Given the description of an element on the screen output the (x, y) to click on. 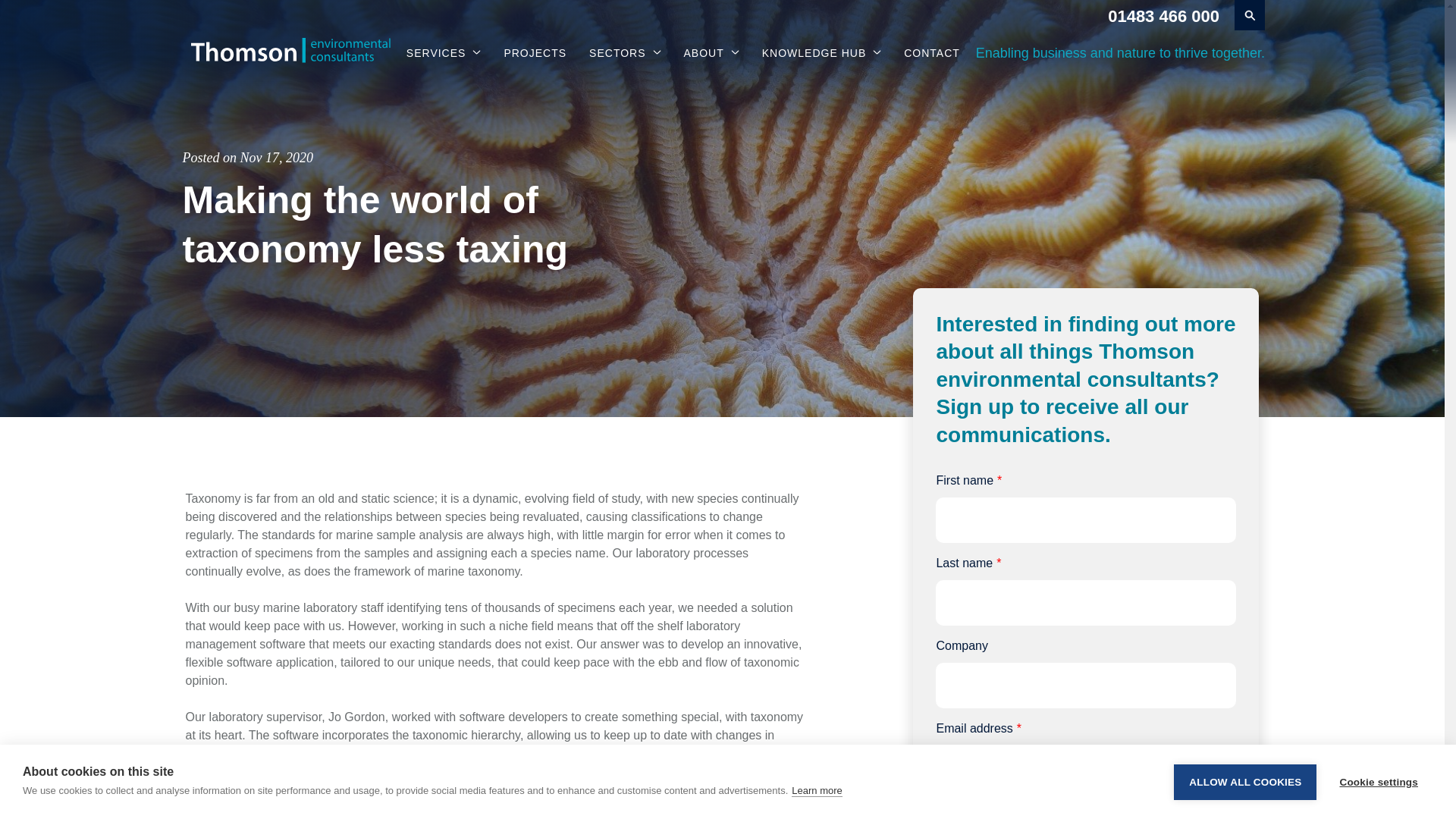
search (1249, 15)
ALLOW ALL COOKIES (1244, 811)
SERVICES (443, 53)
Cookie settings (1377, 803)
